Given the description of an element on the screen output the (x, y) to click on. 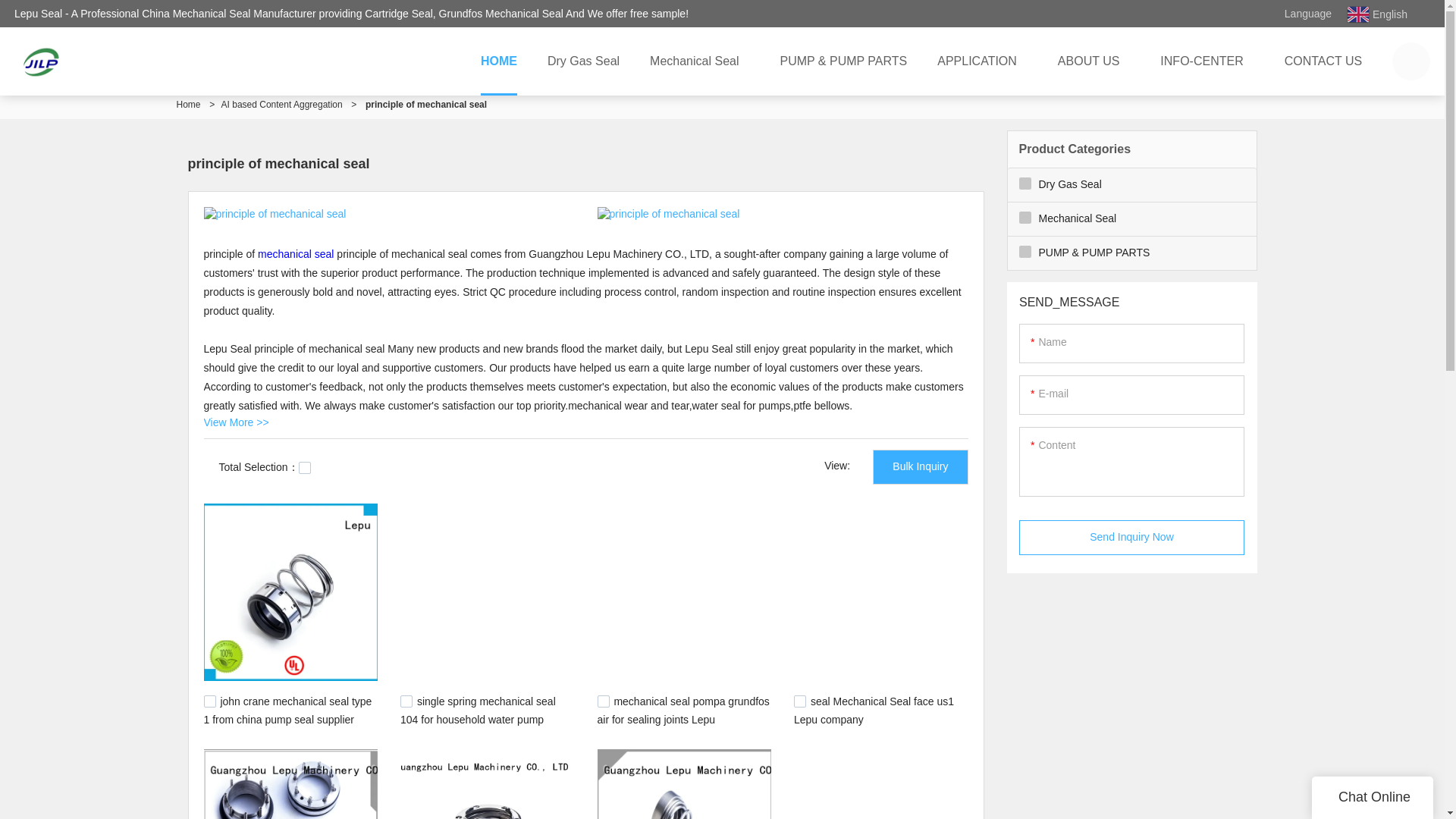
APPLICATION (981, 61)
872 (603, 701)
HOME (498, 61)
777 (799, 701)
on (304, 467)
1027 (209, 701)
Mechanical Seal (699, 61)
seal Mechanical Seal face us1 Lepu company (873, 709)
1030 (406, 701)
